Given the description of an element on the screen output the (x, y) to click on. 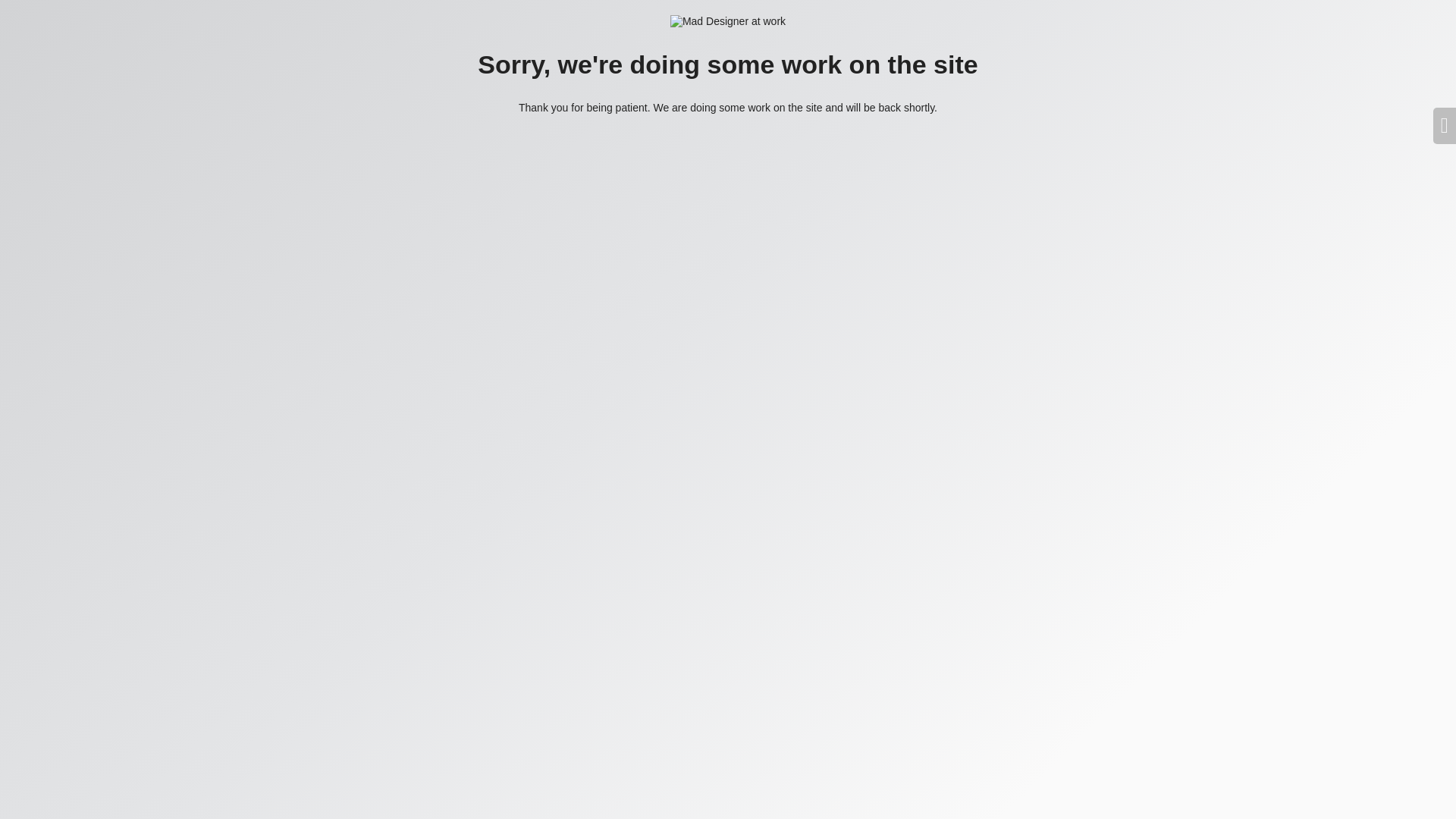
Mad Designer at work (727, 21)
